Given the description of an element on the screen output the (x, y) to click on. 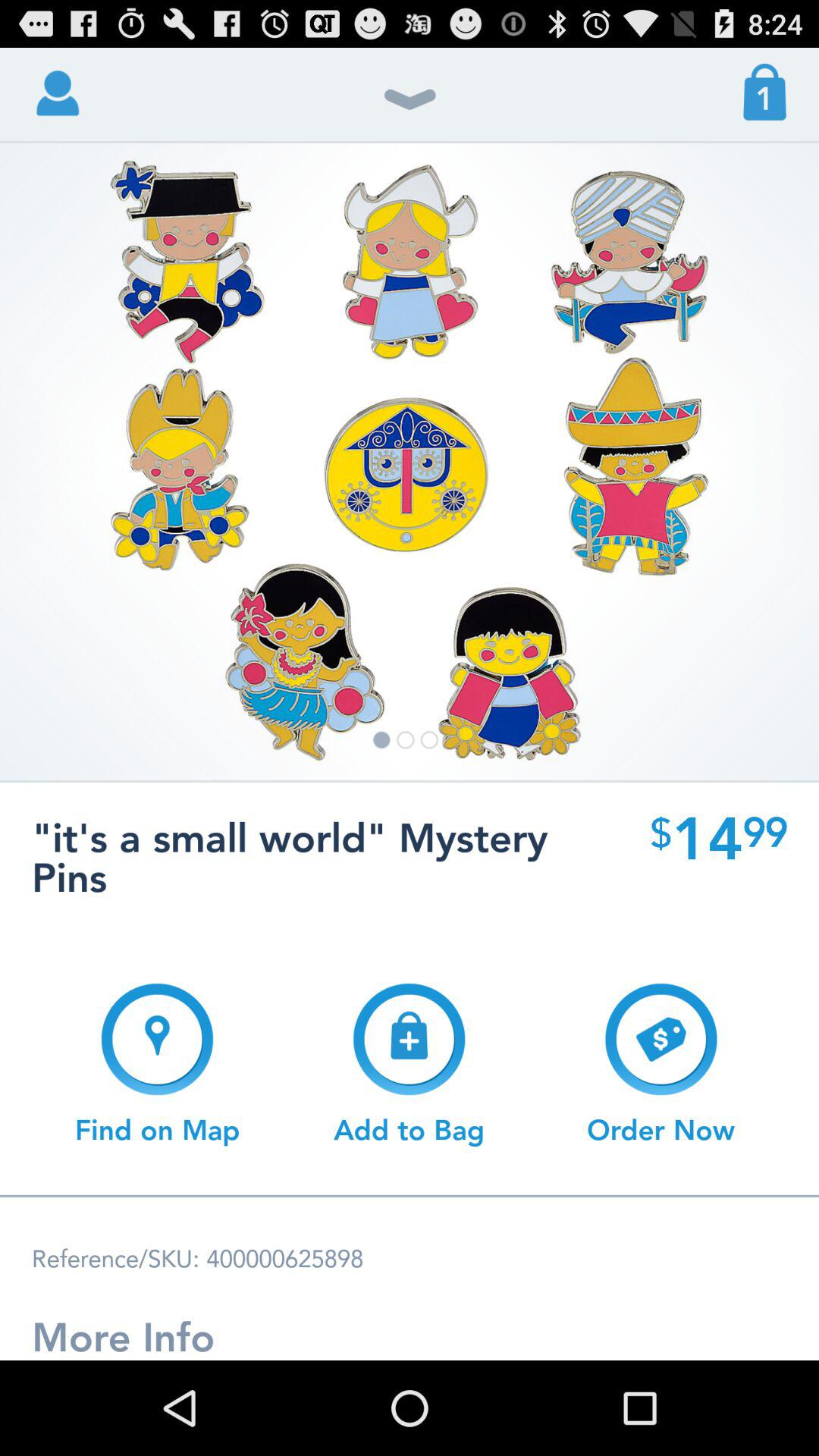
scroll until the add to bag icon (408, 1064)
